Given the description of an element on the screen output the (x, y) to click on. 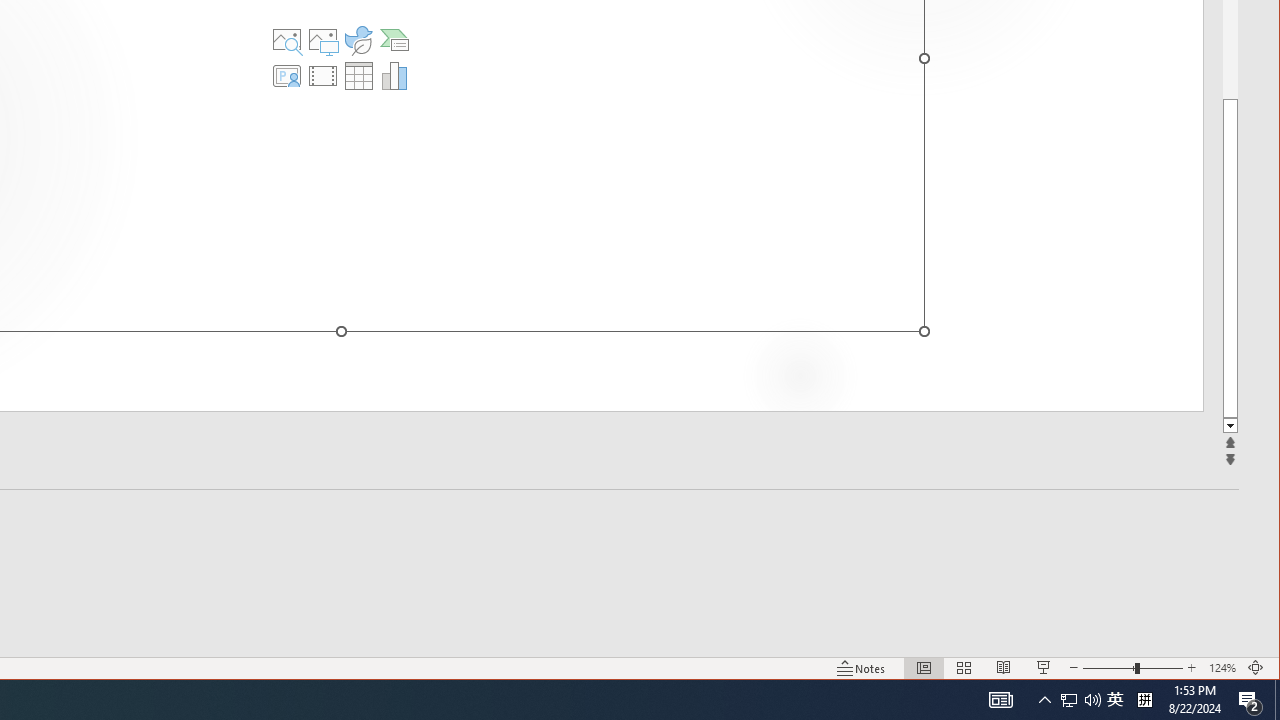
Insert Cameo (287, 75)
Action Center, 2 new notifications (1250, 699)
Insert Video (323, 75)
